Given the description of an element on the screen output the (x, y) to click on. 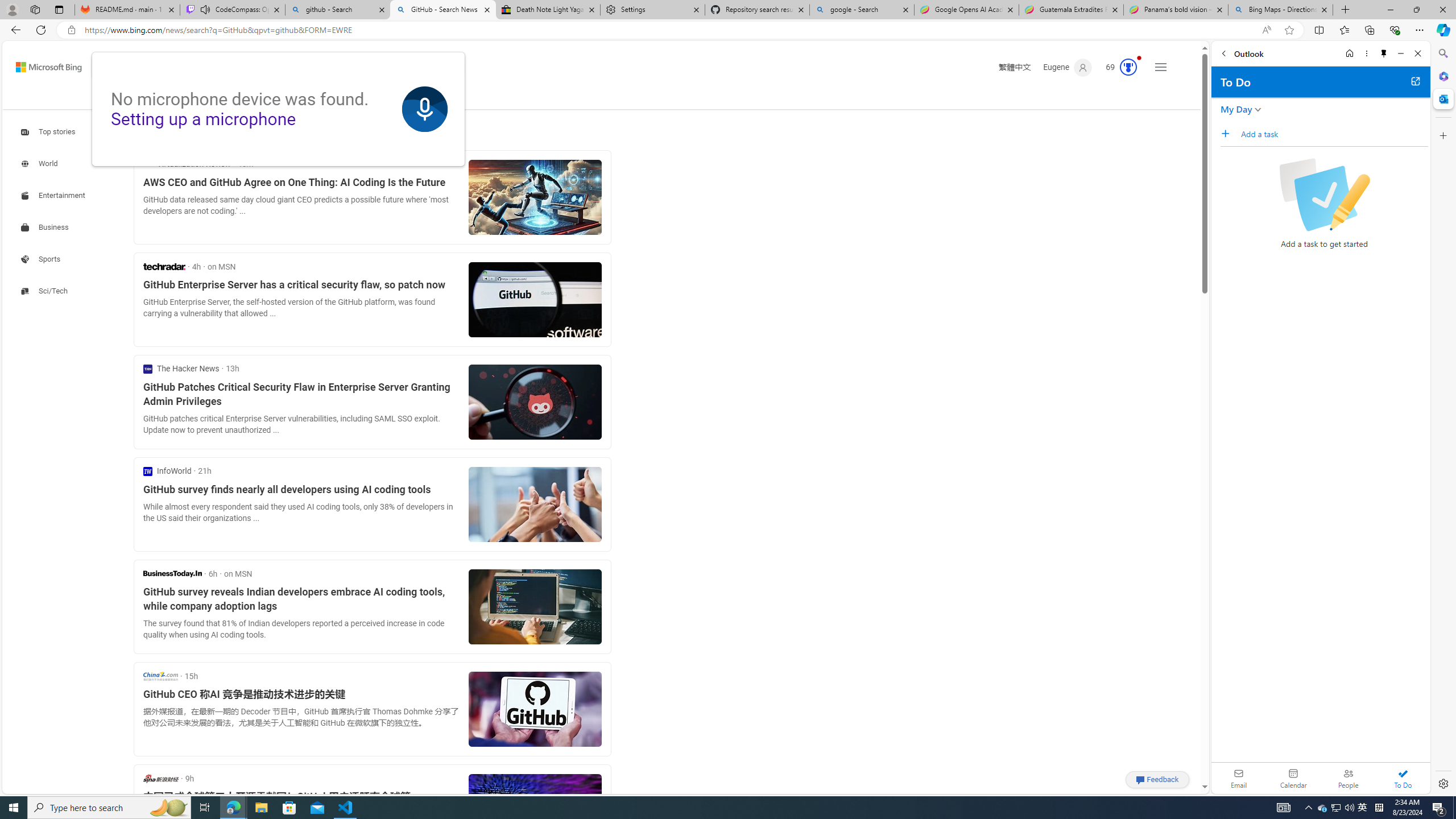
Clear text (407, 66)
My Day (1236, 109)
Search news about Business (46, 227)
github - Search (337, 9)
People (1347, 777)
Best match (227, 132)
GitHub - Search News (442, 9)
Search news from The Hacker News (180, 368)
